Given the description of an element on the screen output the (x, y) to click on. 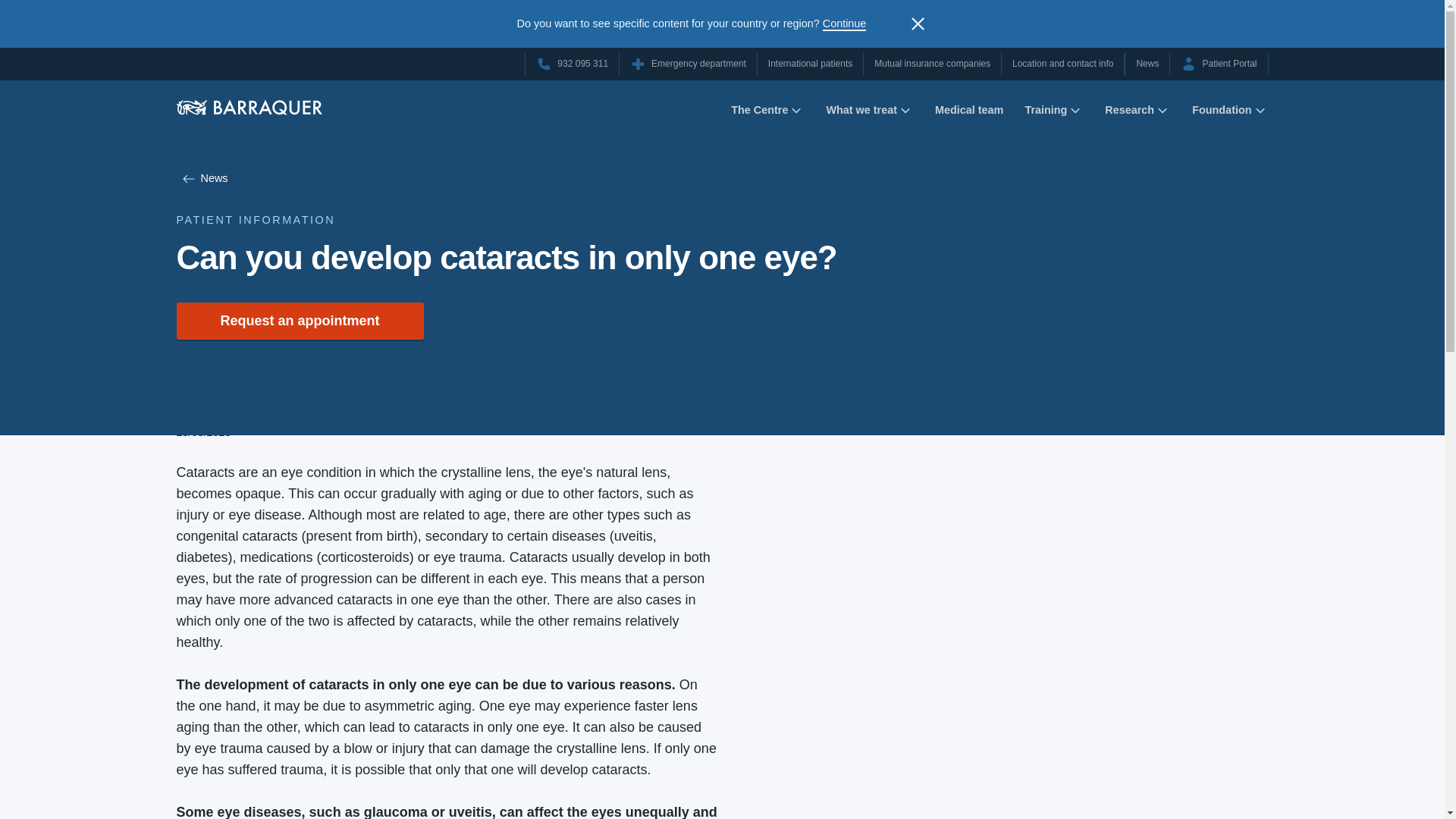
Location and contact info (1062, 64)
Training (1054, 113)
Mutual insurance companies (932, 64)
Continue (844, 24)
Patient Portal (1218, 64)
What we treat (869, 113)
Research (1137, 113)
932 095 311 (571, 64)
Medical team (968, 112)
International patients (810, 64)
Emergency department (688, 64)
Foundation (1230, 113)
The Centre (767, 113)
News (1147, 64)
